Given the description of an element on the screen output the (x, y) to click on. 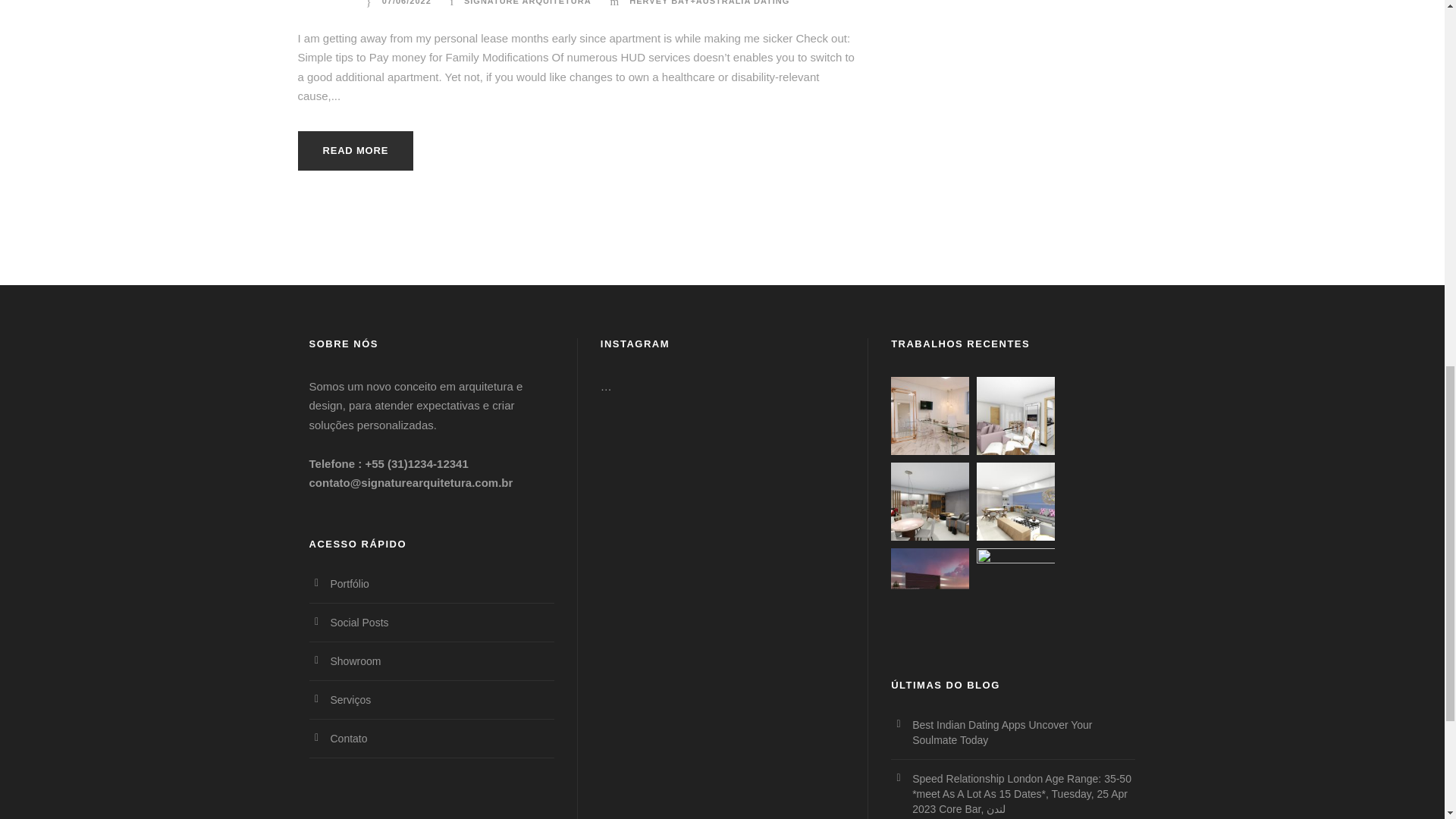
Posts by Signature Arquitetura (527, 2)
READ MORE (355, 150)
SIGNATURE ARQUITETURA (527, 2)
